Given the description of an element on the screen output the (x, y) to click on. 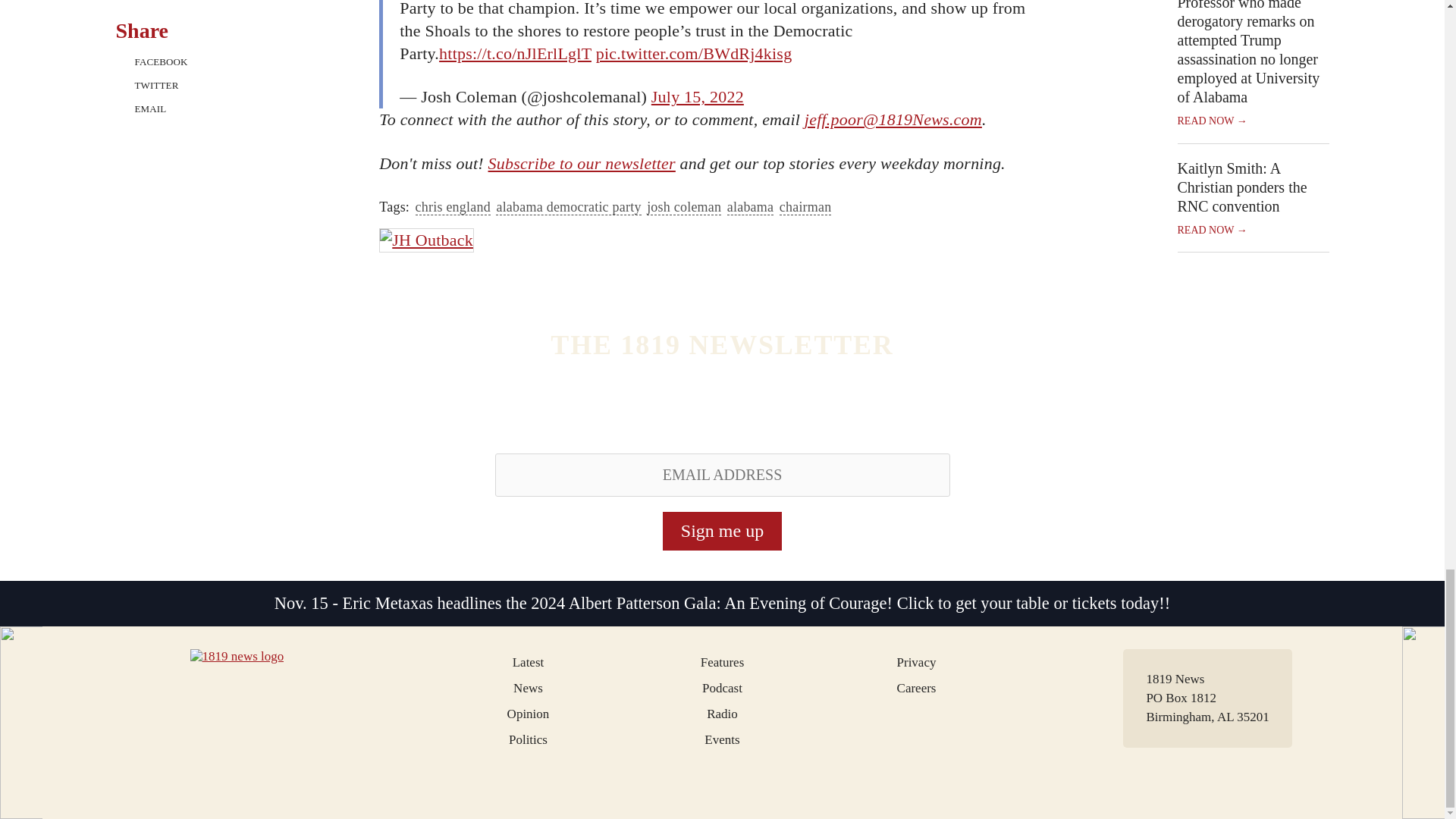
Fishers Farm730 (443, 240)
